Given the description of an element on the screen output the (x, y) to click on. 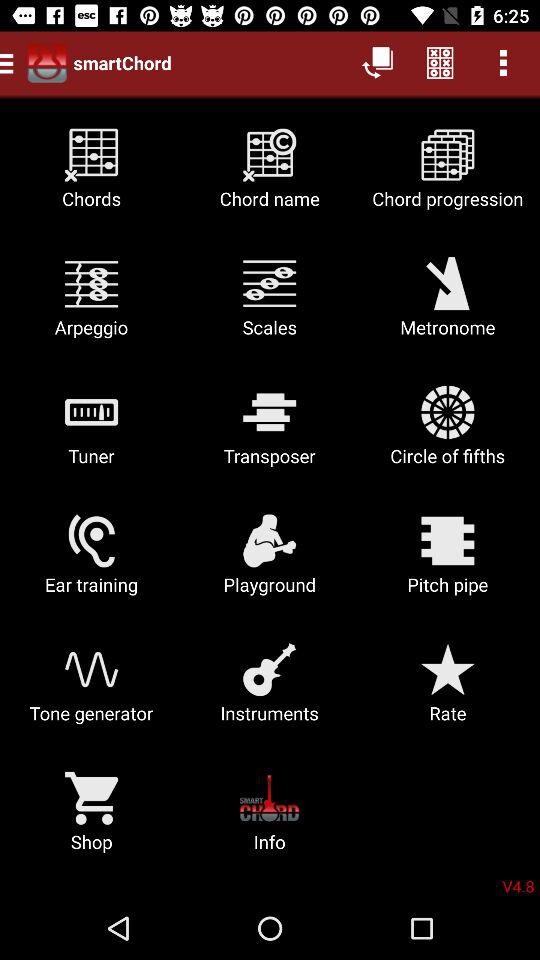
choose item to the left of pitch pipe icon (269, 561)
